Given the description of an element on the screen output the (x, y) to click on. 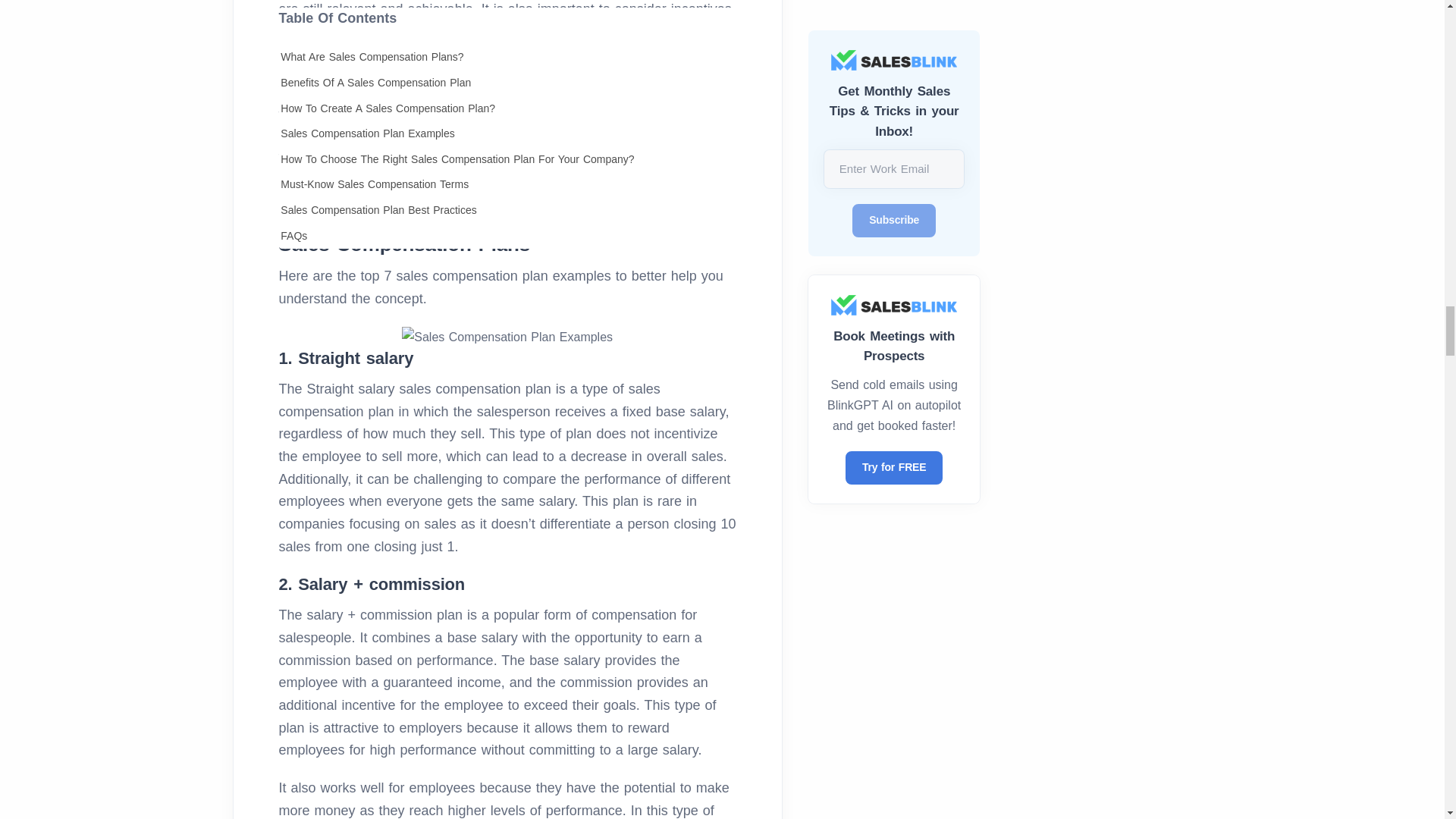
Sales Compensation Plan Examples (506, 336)
